Given the description of an element on the screen output the (x, y) to click on. 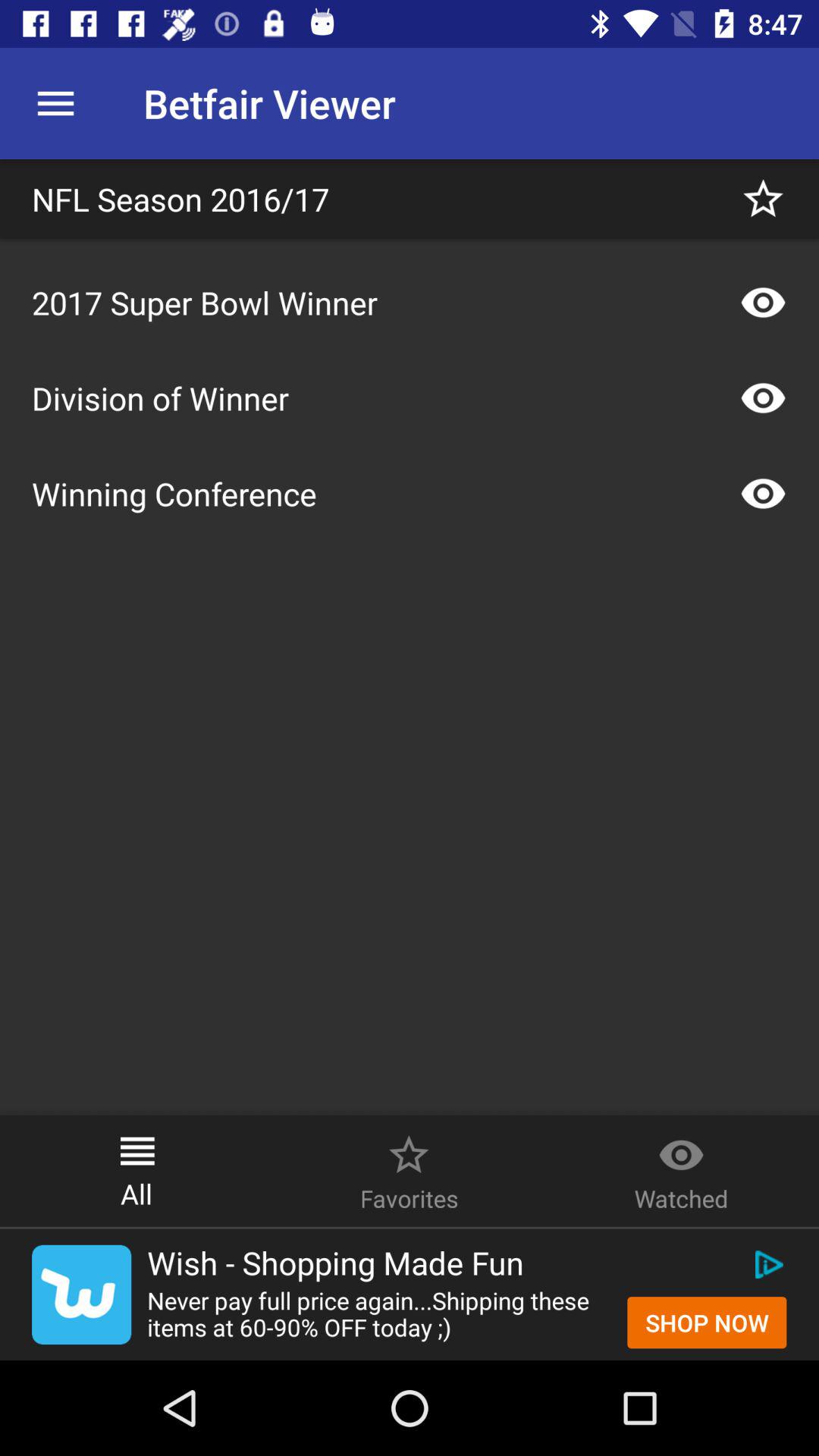
show photos (763, 397)
